Given the description of an element on the screen output the (x, y) to click on. 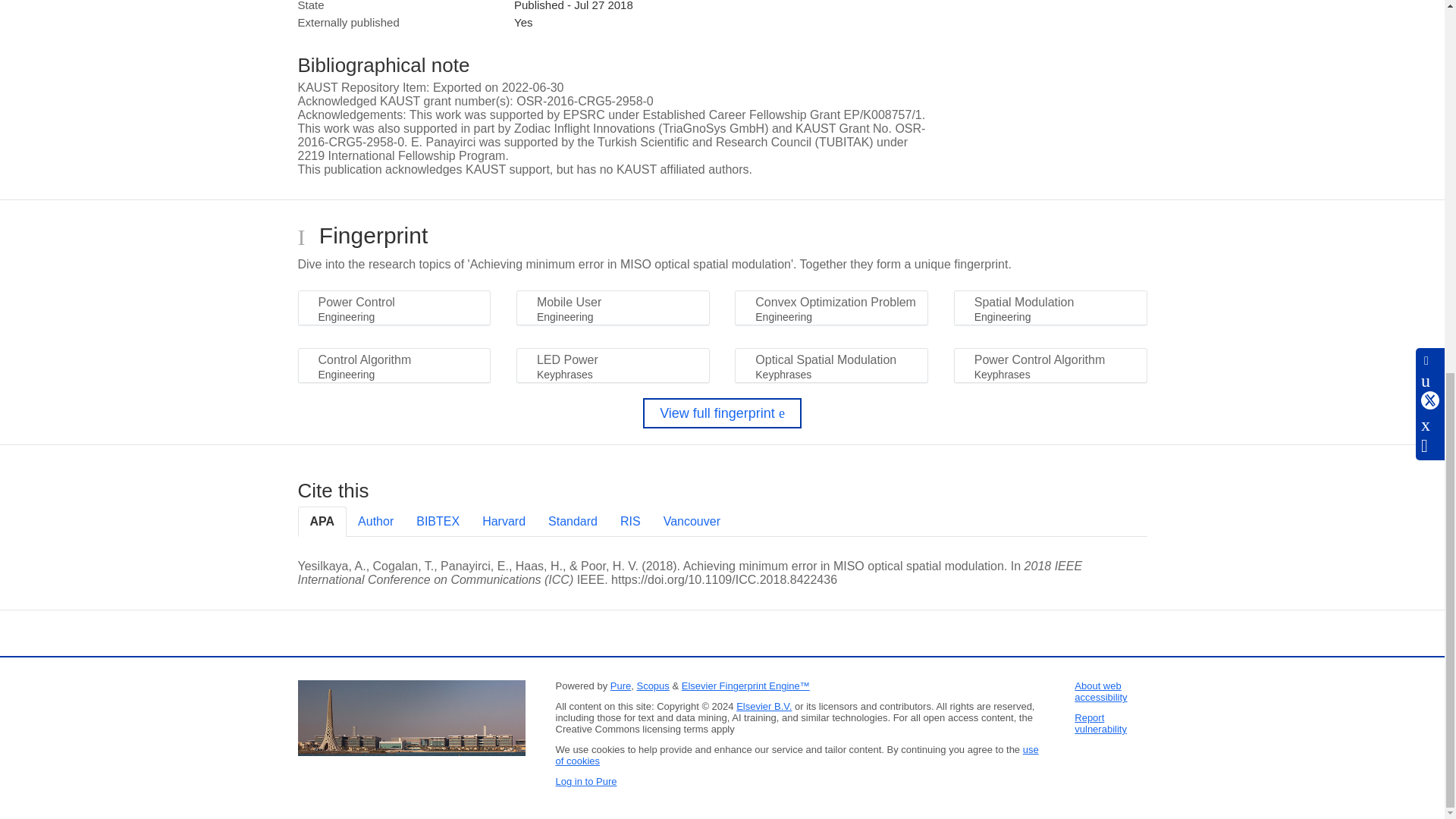
Pure (620, 685)
Scopus (652, 685)
View full fingerprint (722, 413)
